Given the description of an element on the screen output the (x, y) to click on. 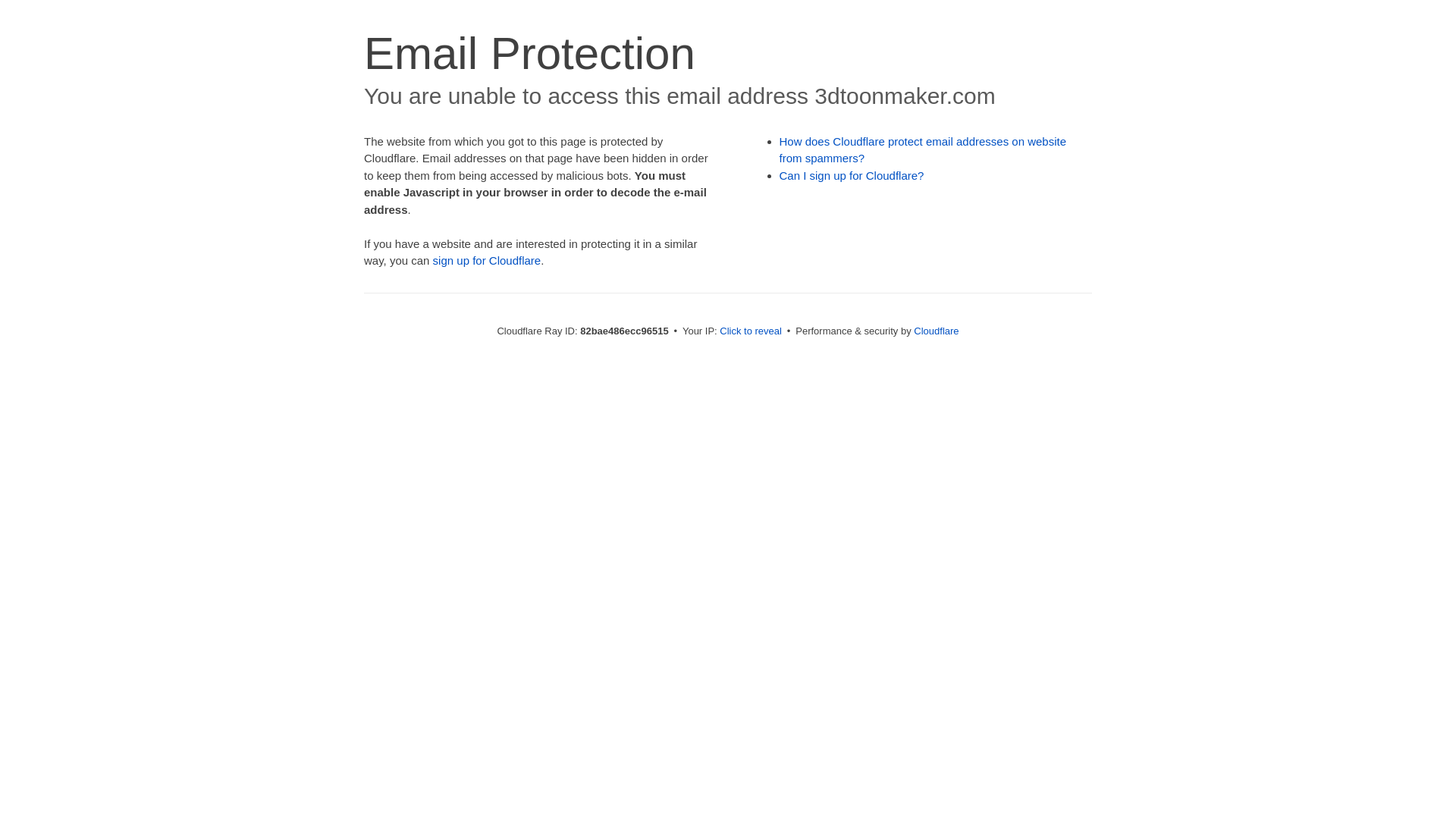
Click to reveal Element type: text (750, 330)
Cloudflare Element type: text (935, 330)
Can I sign up for Cloudflare? Element type: text (851, 175)
sign up for Cloudflare Element type: text (487, 260)
